Given the description of an element on the screen output the (x, y) to click on. 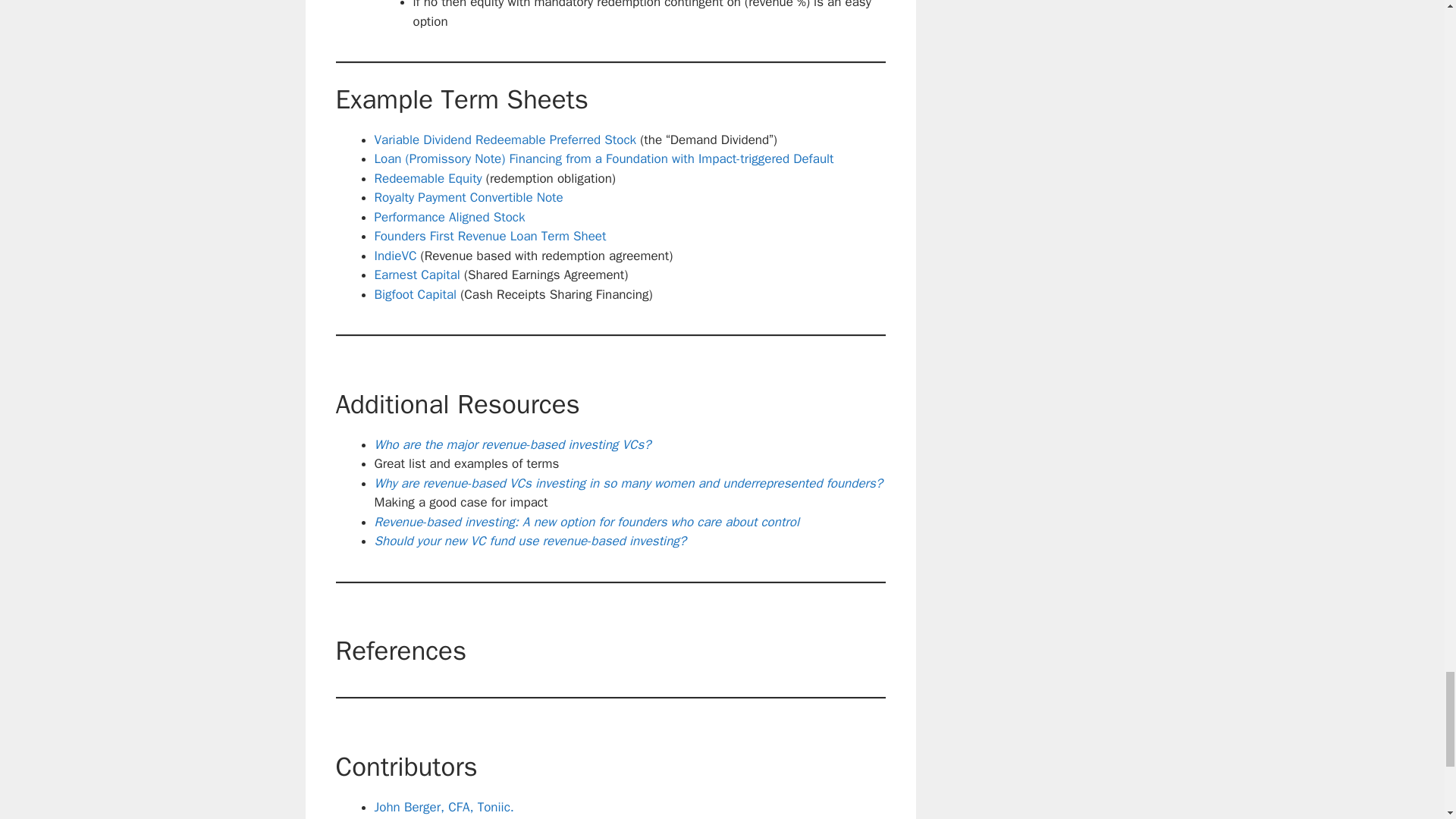
Redeemable Equity (427, 178)
Variable Dividend Redeemable Preferred Stock  (507, 139)
Performance Aligned Stock (449, 217)
IndieVC (395, 255)
yalty Payment Convertible Note (475, 197)
Ro (382, 197)
Founders First Revenue Loan Term Sheet (490, 236)
